Given the description of an element on the screen output the (x, y) to click on. 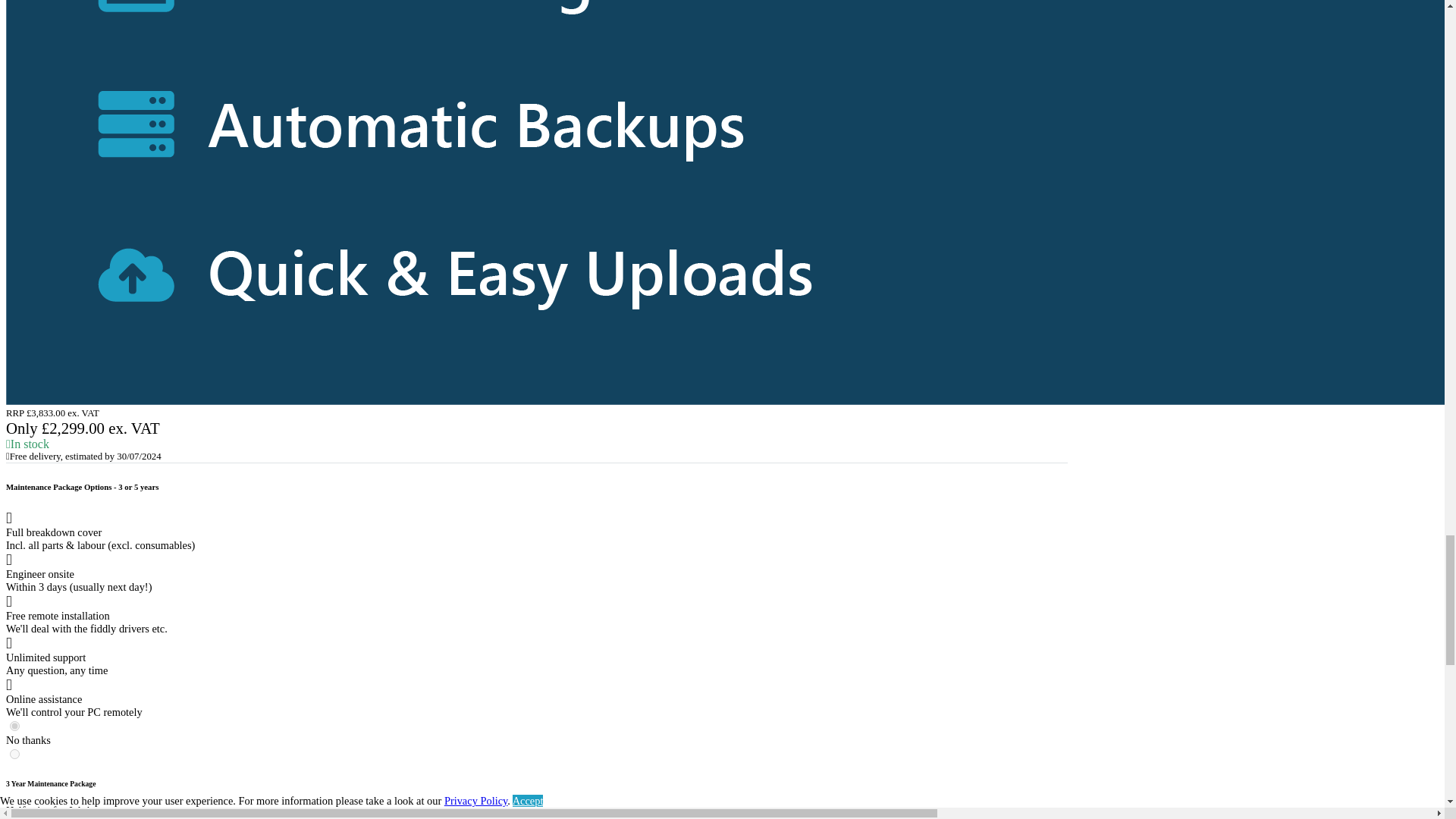
3759 (15, 754)
0 (15, 726)
